Given the description of an element on the screen output the (x, y) to click on. 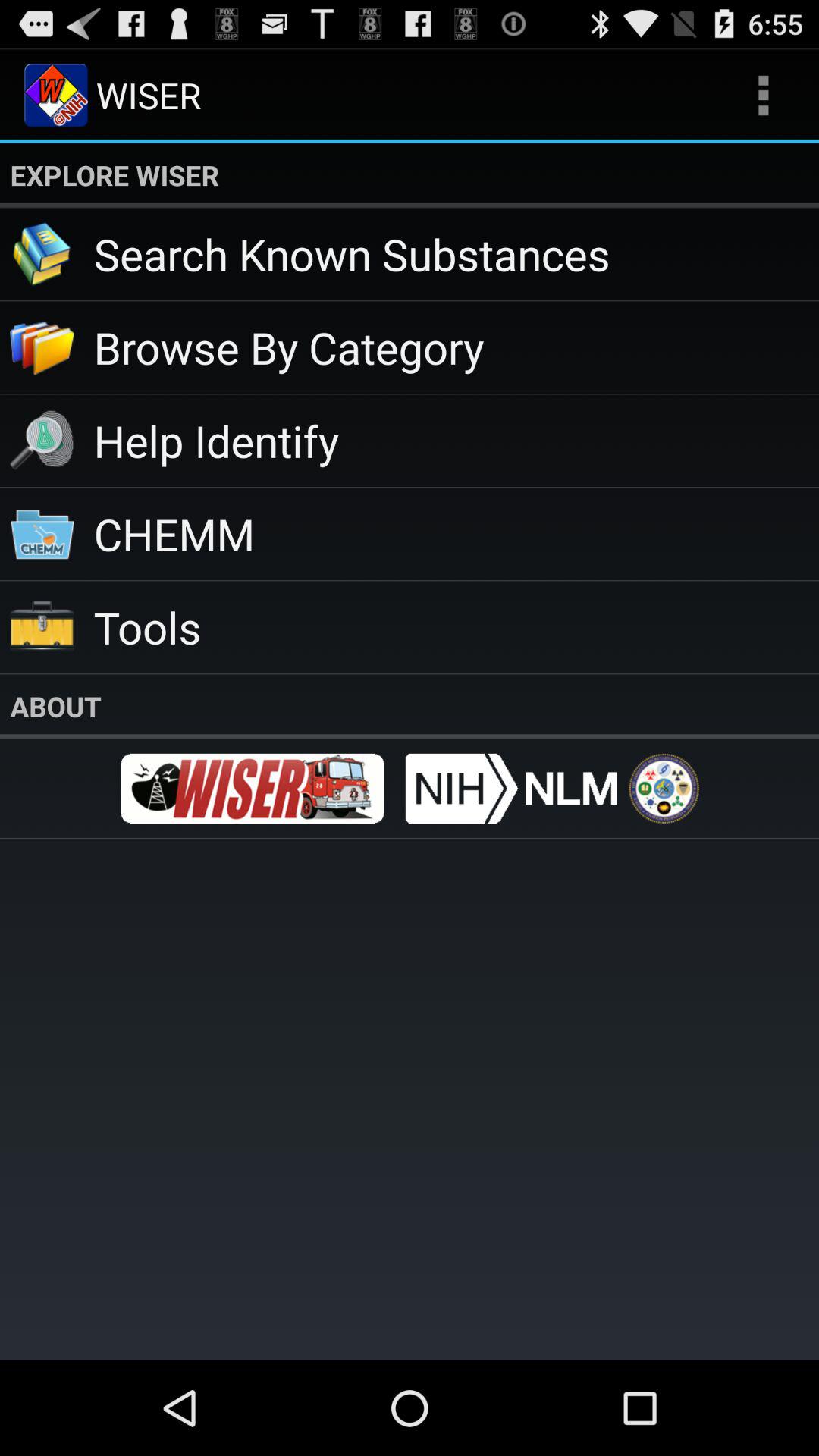
choose the item above the about (456, 626)
